Given the description of an element on the screen output the (x, y) to click on. 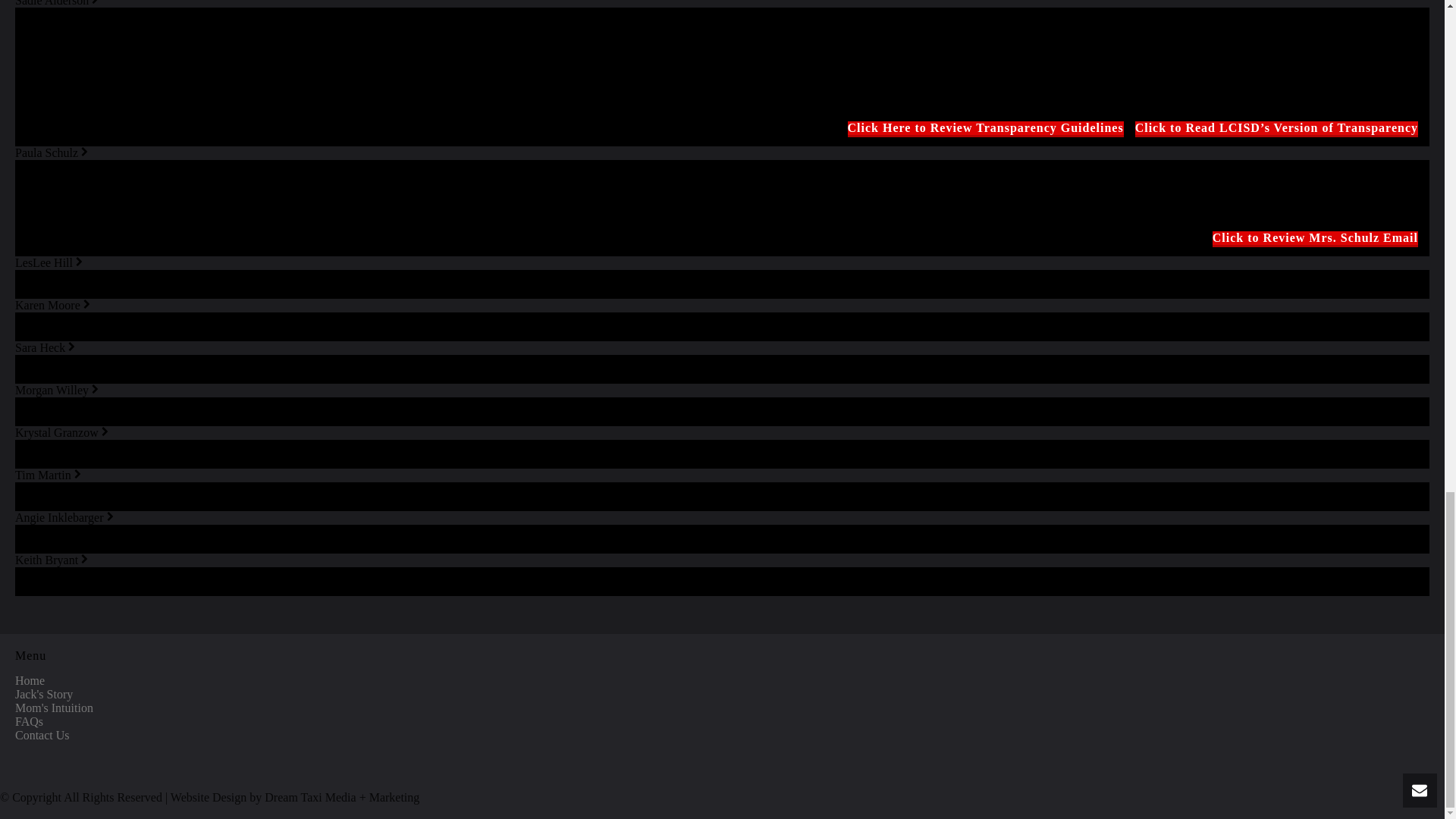
Jack's Story (43, 694)
Home (29, 680)
Click Here to Review Transparency Guidelines (985, 128)
Contact Us (41, 735)
FAQs (28, 721)
Click Here to Review Transparency Guidelines (985, 128)
Click to Review Mrs. Schulz Email (1315, 237)
Click to Review Mrs. Schulz Email (1315, 237)
Mom's Intuition (53, 707)
